Given the description of an element on the screen output the (x, y) to click on. 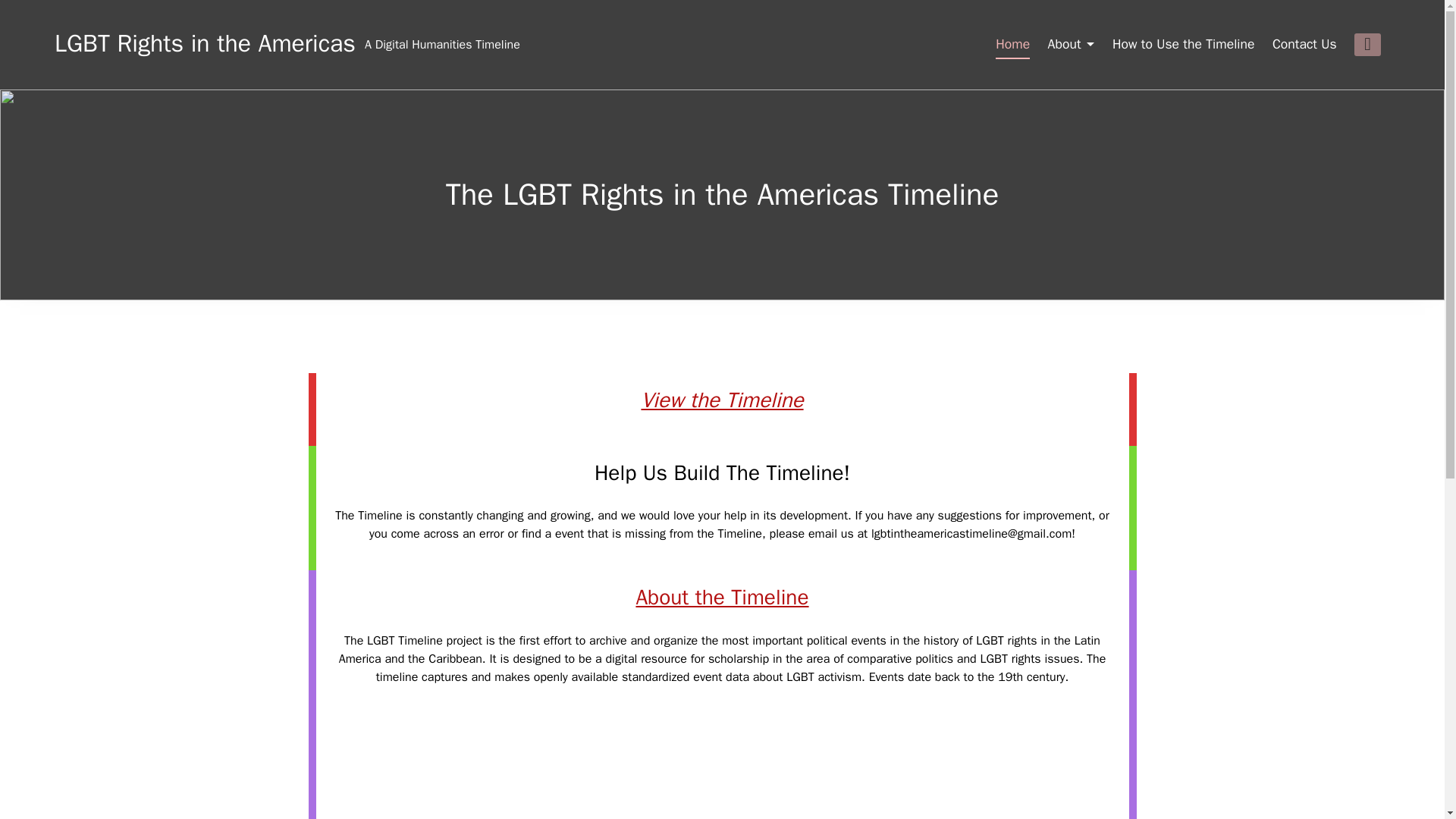
About (1071, 44)
TOGGLE SEARCH INTERFACE (1367, 44)
How to Use the Timeline (1183, 44)
Home (1012, 44)
About the Timeline (721, 596)
Contact Us (1304, 44)
LGBT Rights in the Americas (442, 45)
How to Use the Timeline (1183, 44)
A Digital Humanities Timeline (442, 45)
Home (1012, 44)
